Given the description of an element on the screen output the (x, y) to click on. 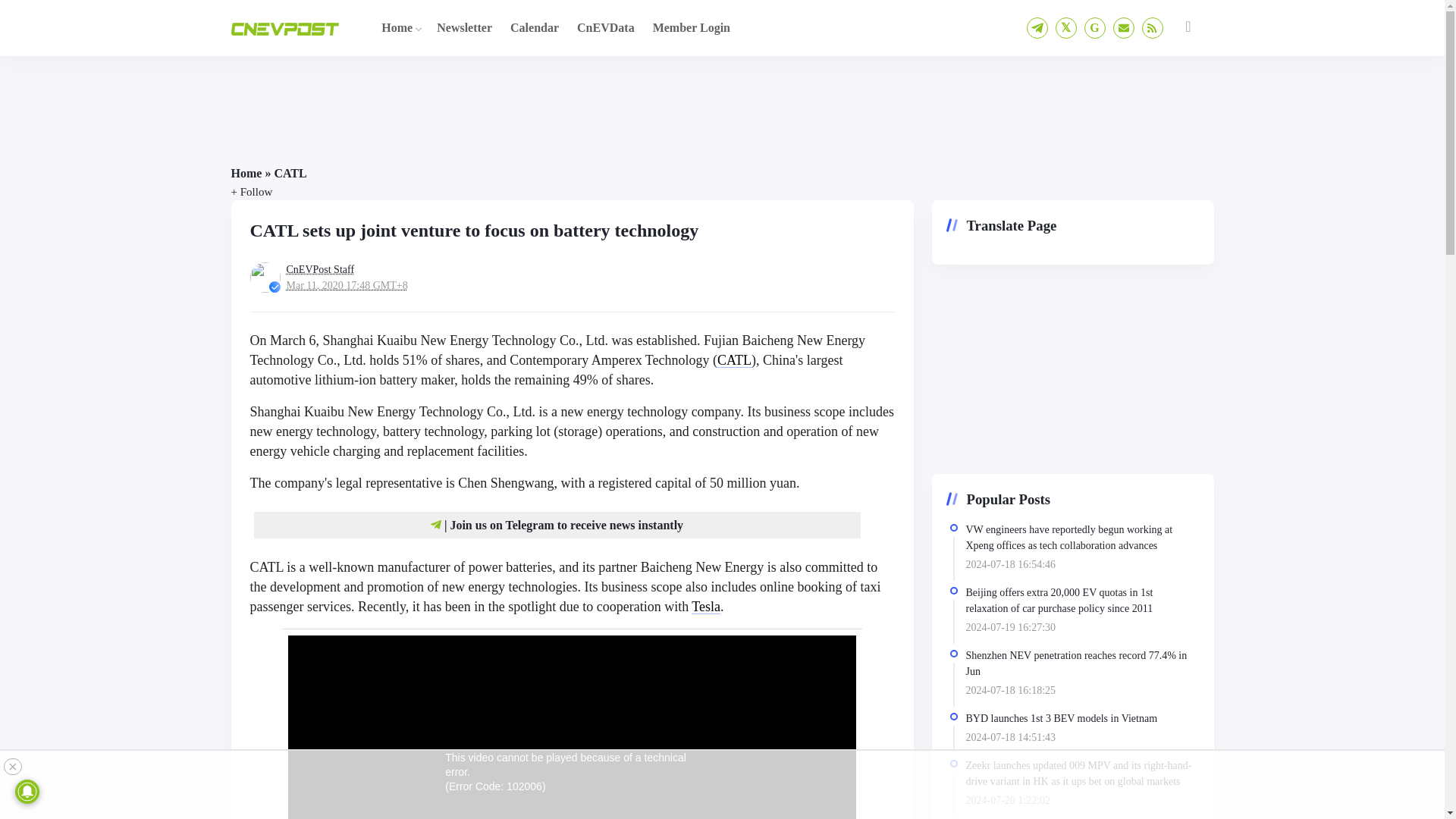
G (1094, 27)
Home (397, 27)
Newsletter (463, 27)
CnEVData (605, 27)
Member Login (691, 27)
CATL (734, 359)
Join us on Telegram to receive news instantly (565, 524)
Home (246, 173)
Calendar (533, 27)
Tesla (705, 606)
CATL (289, 173)
